Given the description of an element on the screen output the (x, y) to click on. 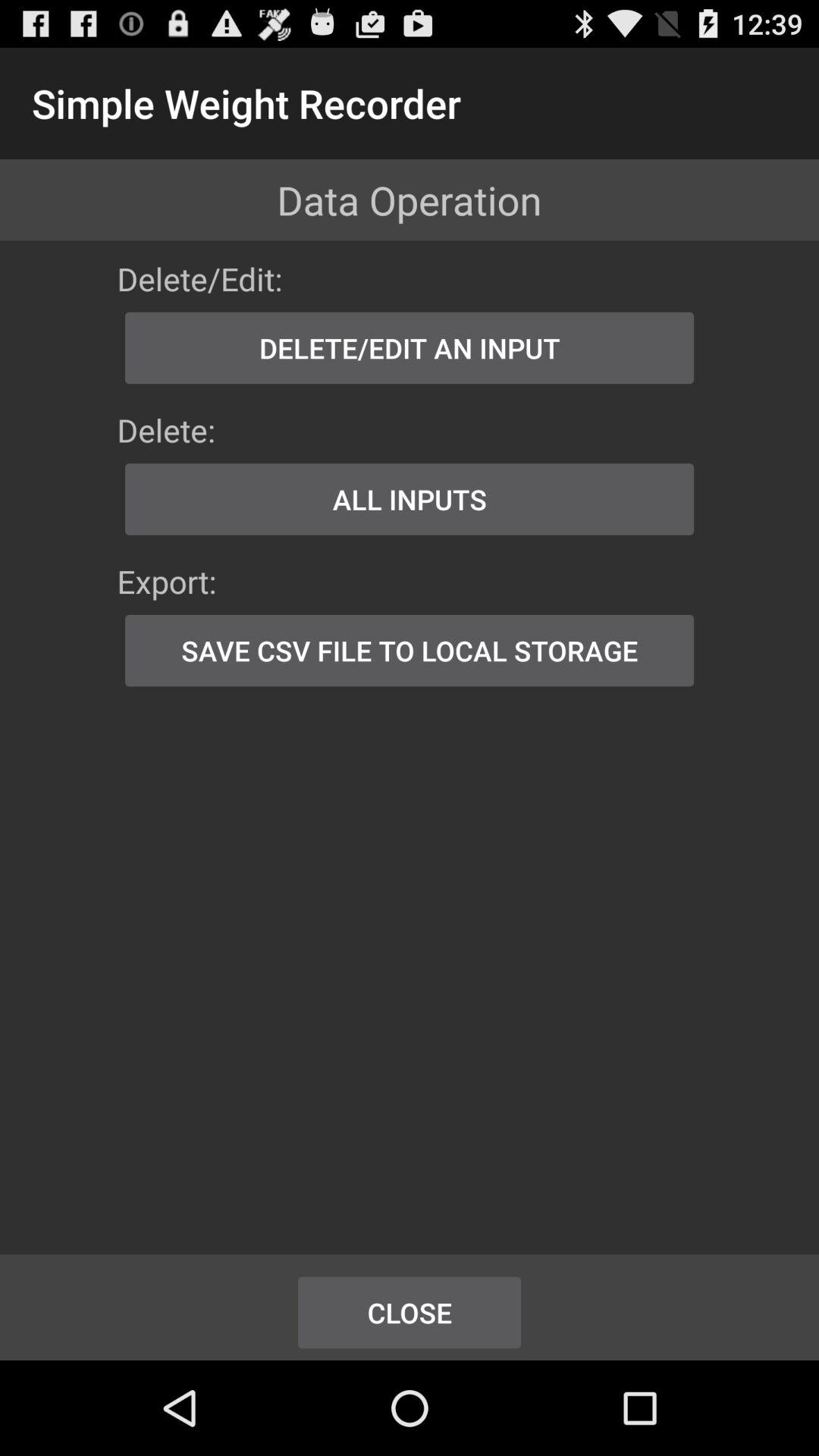
click the save csv file icon (409, 650)
